Given the description of an element on the screen output the (x, y) to click on. 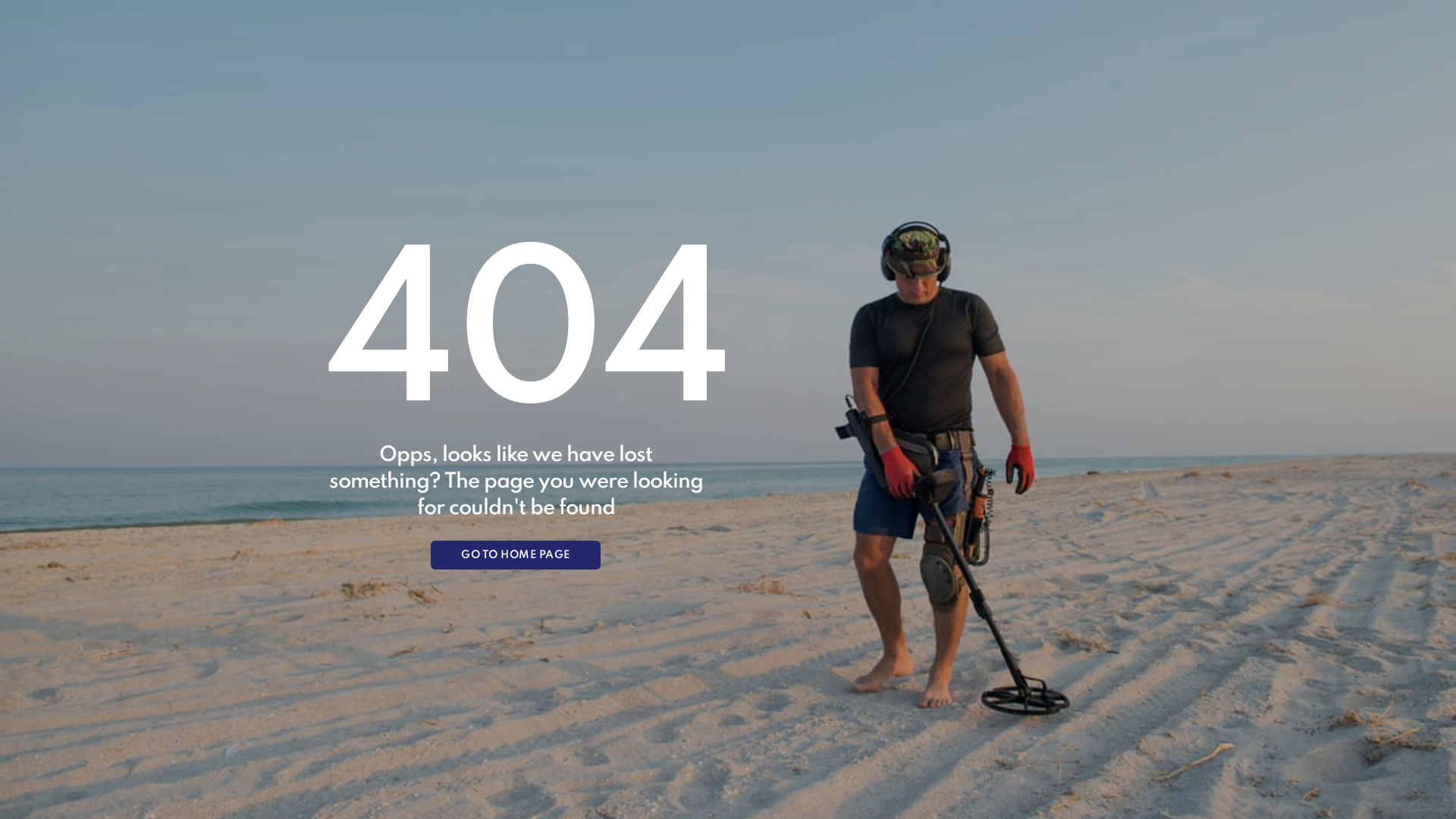
GO TO HOME PAGE Element type: text (515, 554)
